Given the description of an element on the screen output the (x, y) to click on. 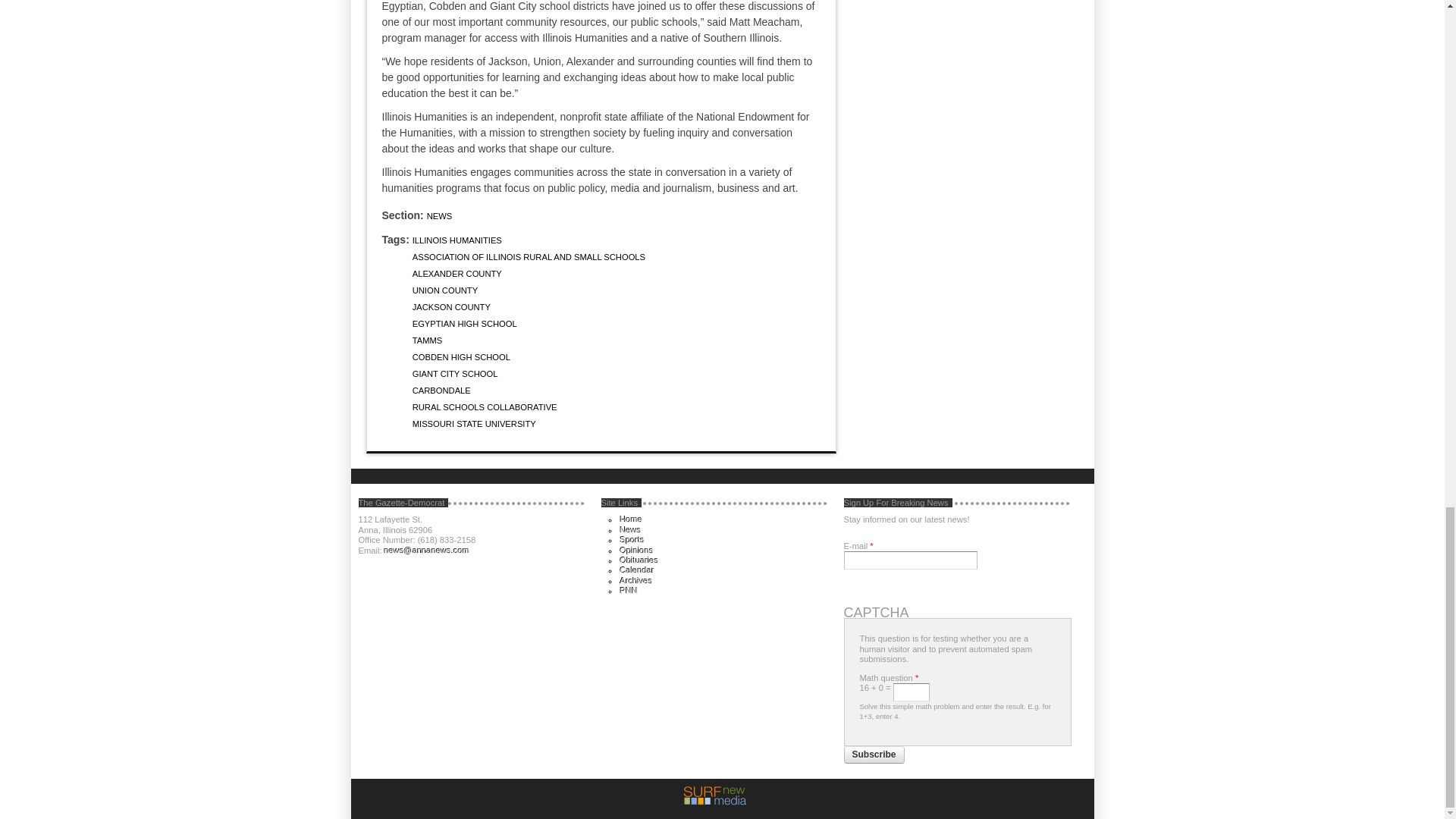
NEWS (439, 215)
Opinions (636, 550)
Sports (632, 539)
EGYPTIAN HIGH SCHOOL (464, 323)
TAMMS (427, 339)
RURAL SCHOOLS COLLABORATIVE (484, 406)
CARBONDALE (441, 389)
Subscribe (873, 755)
ASSOCIATION OF ILLINOIS RURAL AND SMALL SCHOOLS (528, 256)
COBDEN HIGH SCHOOL (461, 356)
ILLINOIS HUMANITIES (457, 239)
Obituaries (639, 560)
News (631, 529)
UNION COUNTY (444, 289)
JACKSON COUNTY (451, 307)
